Given the description of an element on the screen output the (x, y) to click on. 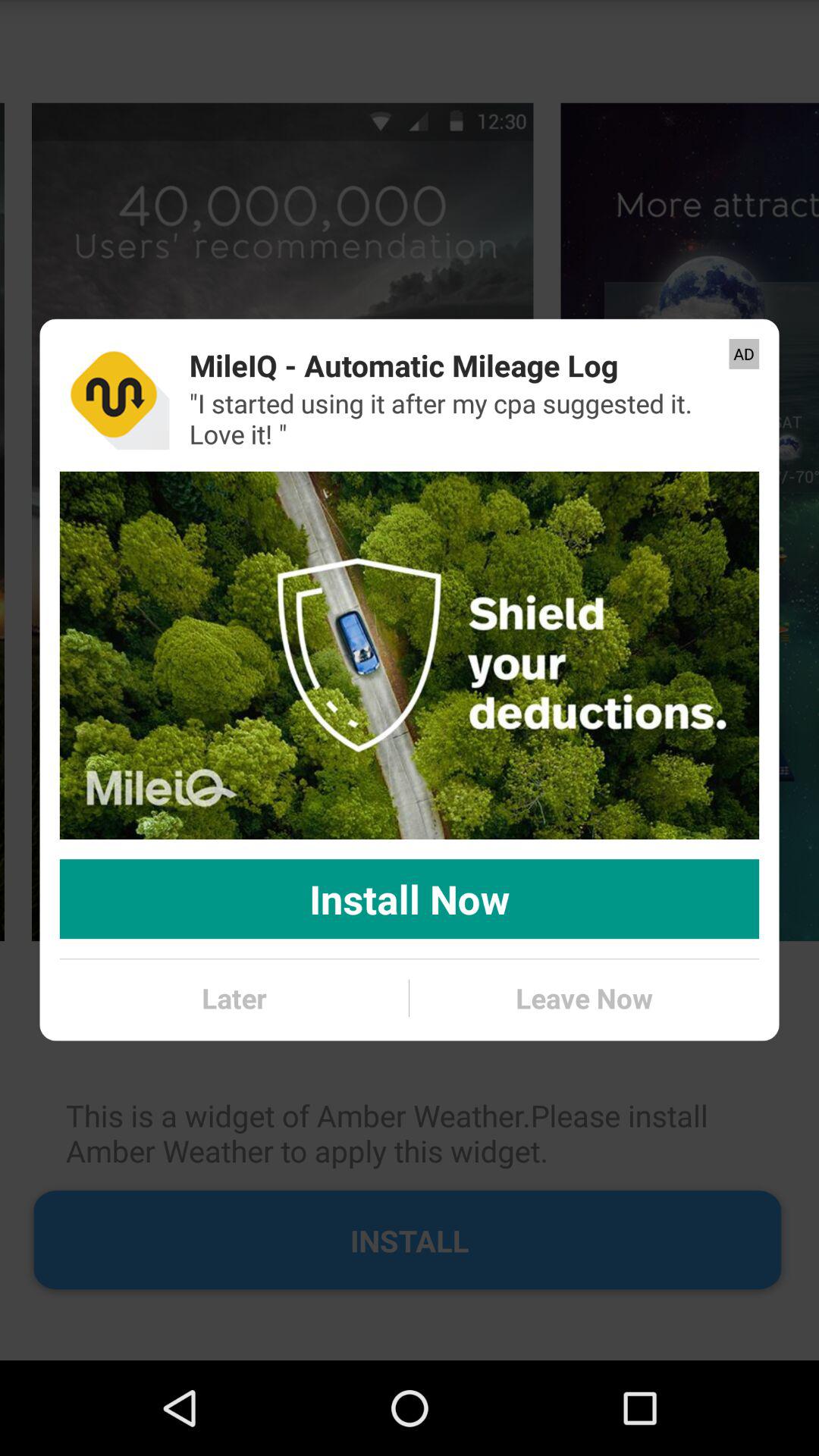
choose item to the left of the ad item (403, 365)
